Given the description of an element on the screen output the (x, y) to click on. 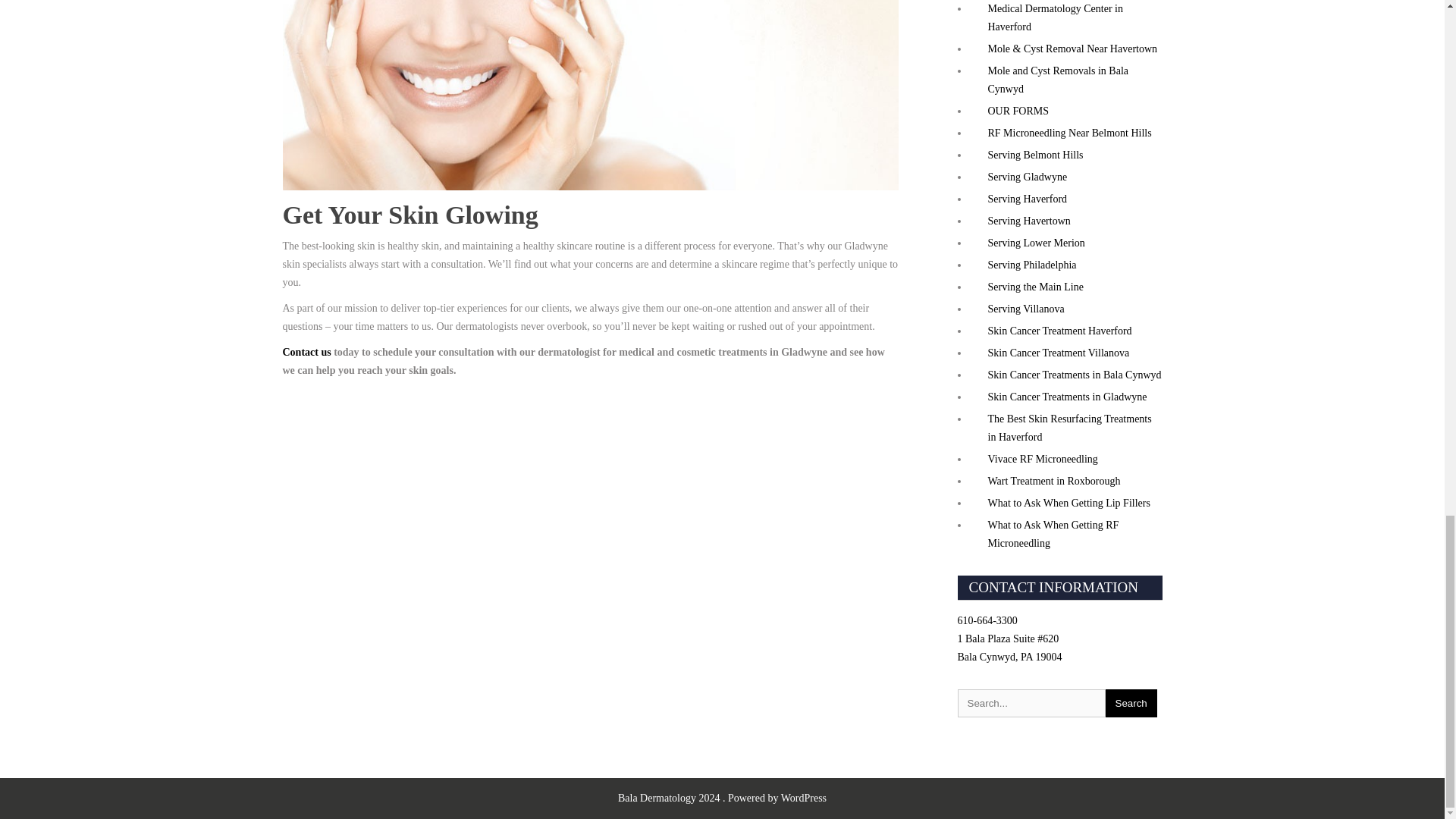
Search (1131, 703)
Search (1131, 703)
